Given the description of an element on the screen output the (x, y) to click on. 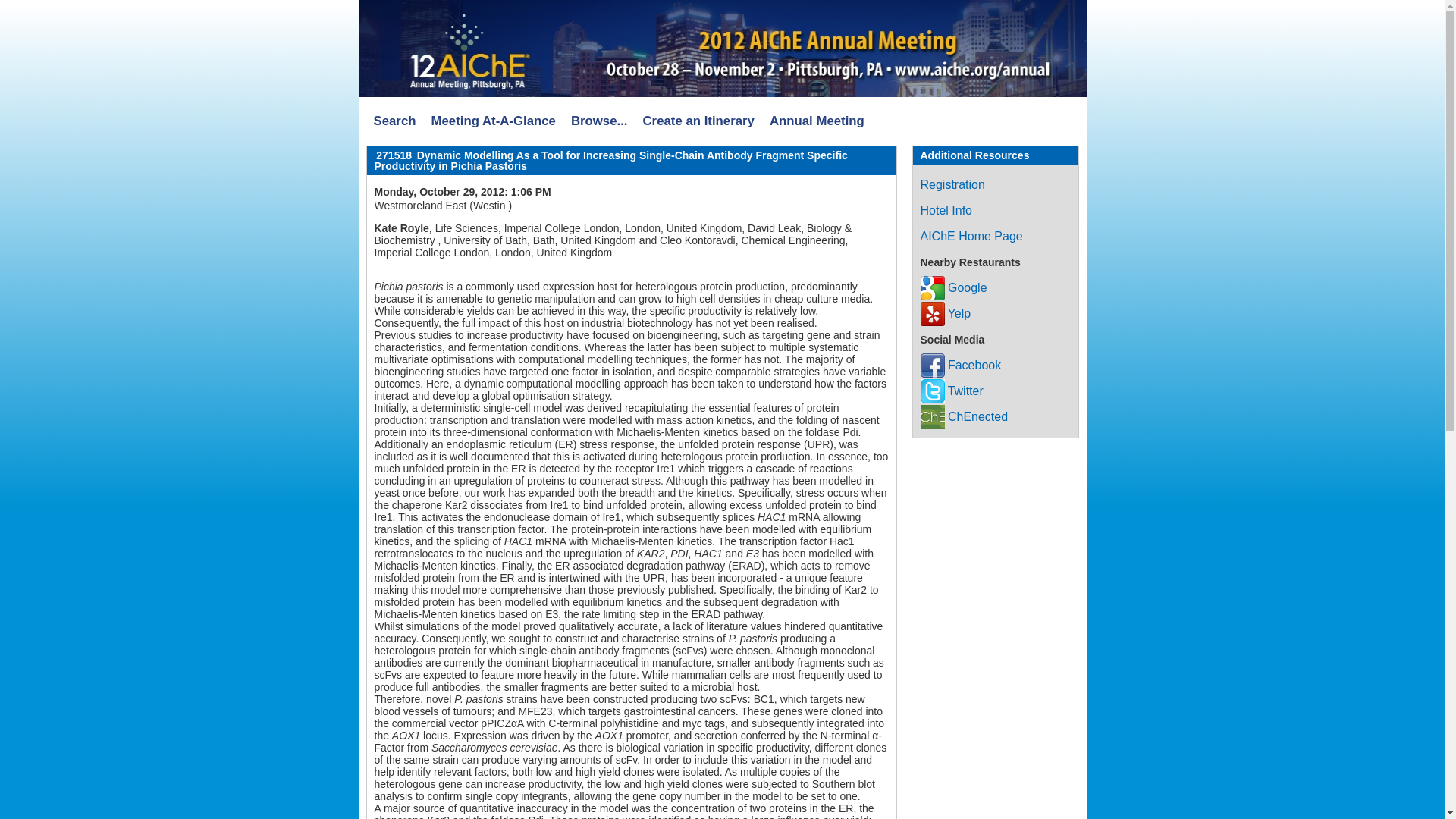
Browse... (598, 121)
ChEnected (964, 416)
Hotel Info (946, 210)
Annual Meeting (816, 121)
Twitter (952, 390)
Yelp (945, 313)
Meeting At-A-Glance (492, 121)
AIChE Home Page (971, 236)
Facebook (960, 364)
Google (953, 287)
